Given the description of an element on the screen output the (x, y) to click on. 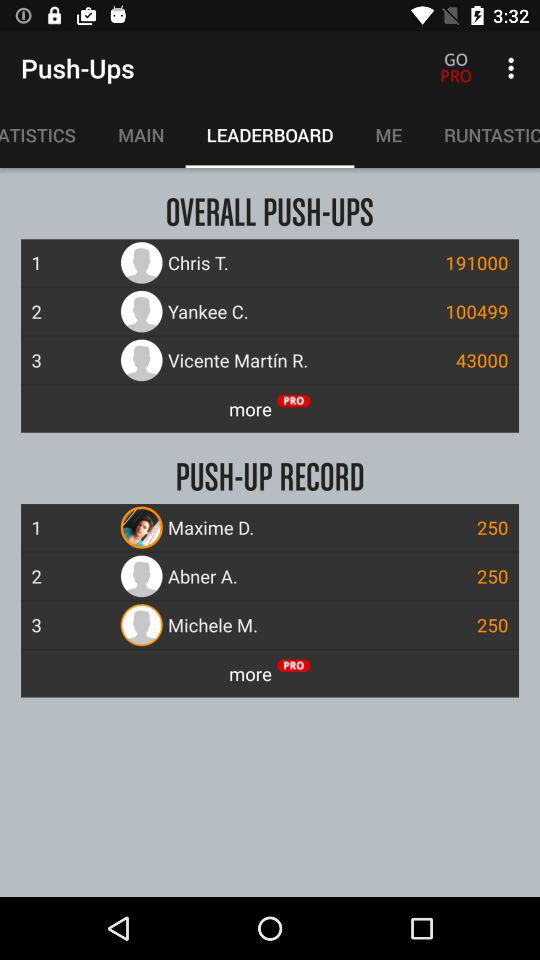
turn off the item to the left of the leaderboard item (141, 135)
